Given the description of an element on the screen output the (x, y) to click on. 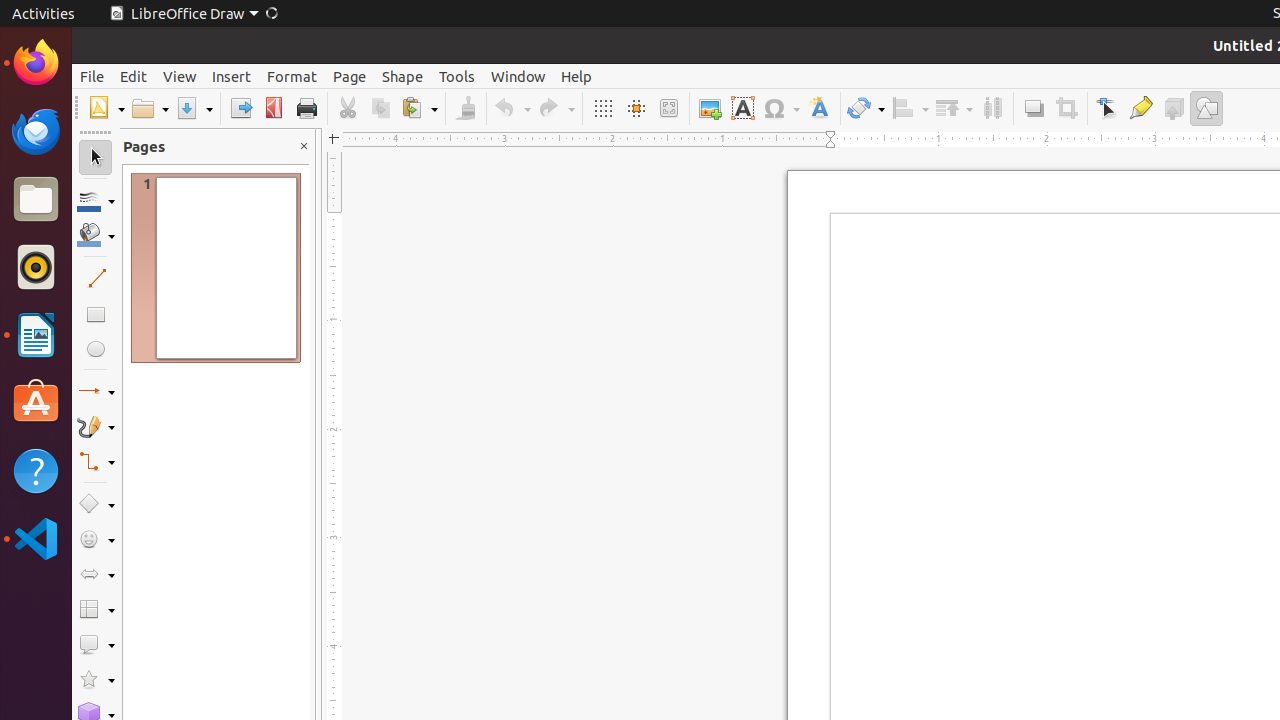
Grid Element type: toggle-button (602, 108)
Symbol Shapes Element type: push-button (96, 539)
PDF Element type: push-button (273, 108)
Arrange Element type: push-button (954, 108)
